Given the description of an element on the screen output the (x, y) to click on. 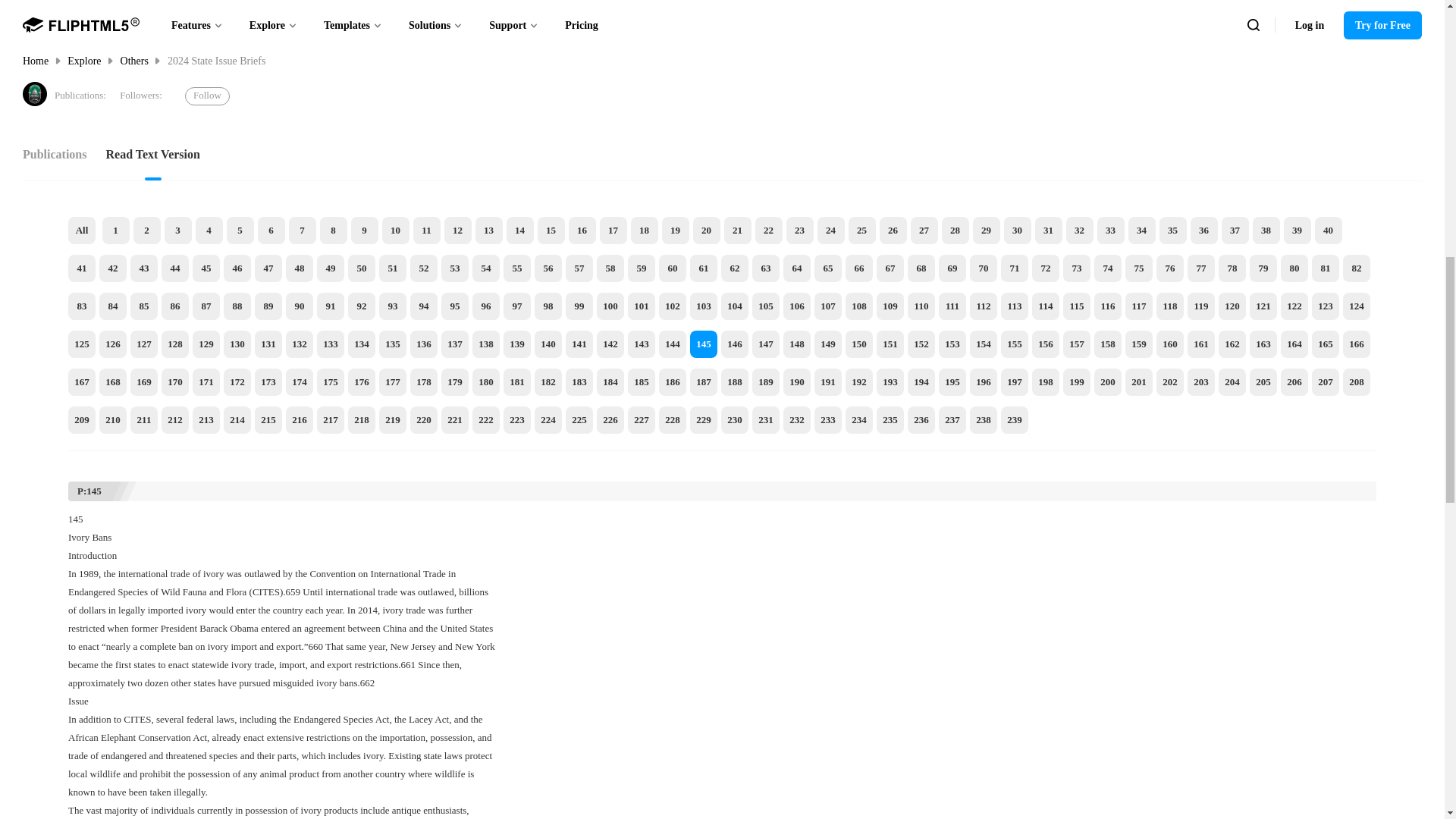
Visit Homepage (34, 93)
